Given the description of an element on the screen output the (x, y) to click on. 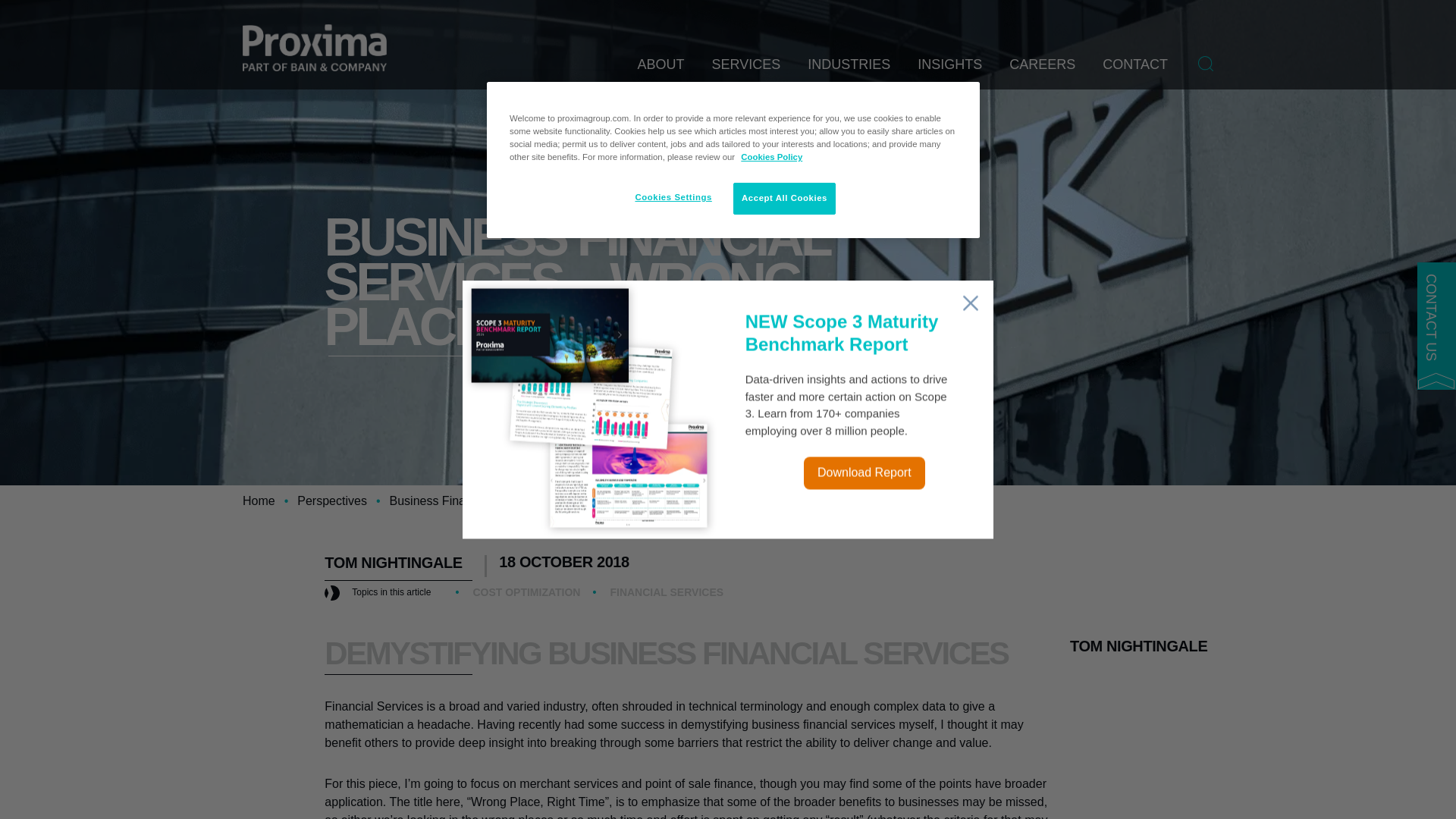
ABOUT (661, 73)
SERVICES (746, 73)
